Given the description of an element on the screen output the (x, y) to click on. 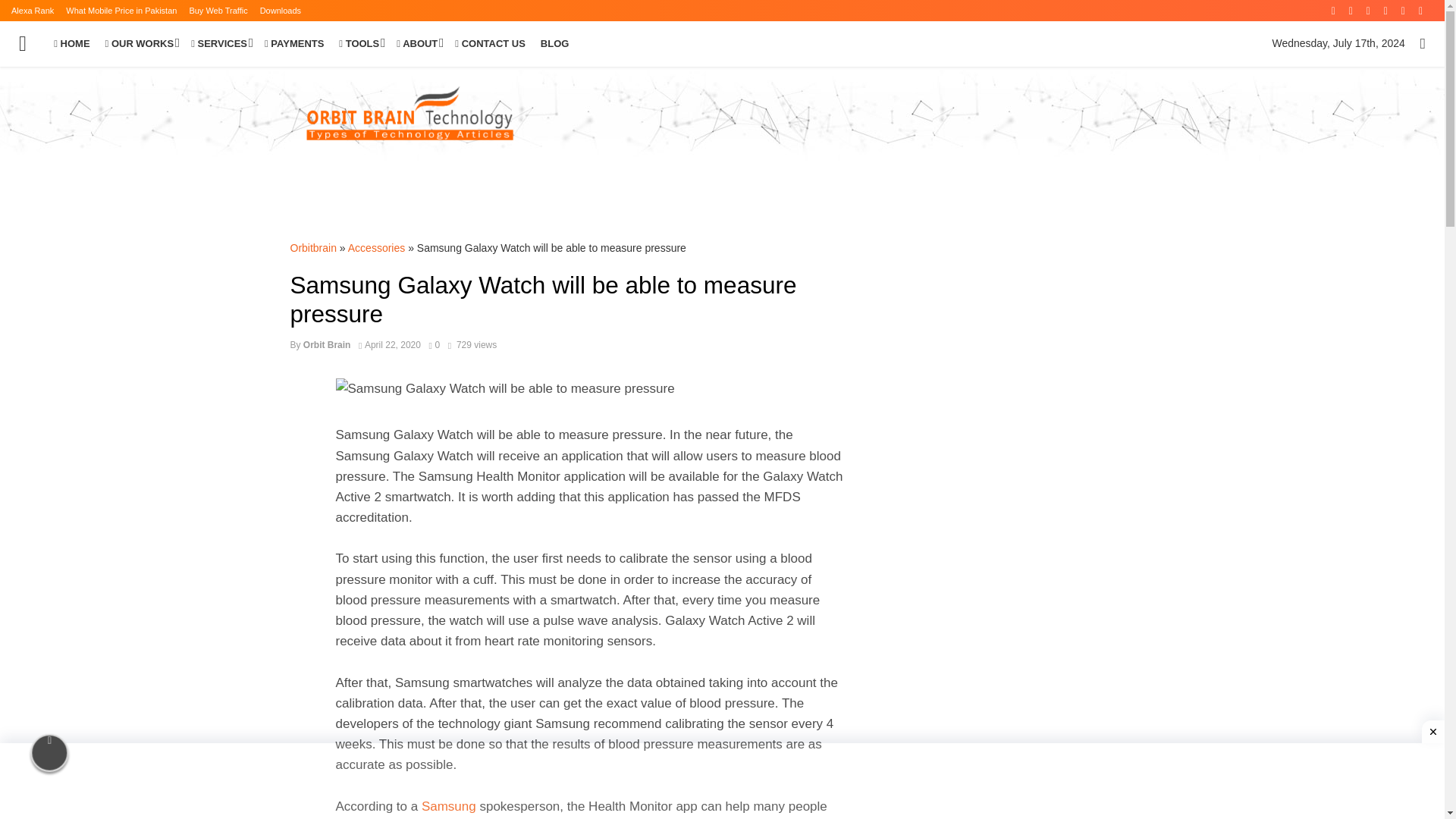
SERVICES (220, 43)
OUR WORKS (140, 43)
Buy Web Traffic (218, 10)
TOOLS (359, 43)
PAYMENTS (294, 43)
Wednesday, July 17th, 2024 (1337, 43)
BLOG (554, 43)
HOME (71, 43)
What Mobile Price in Pakistan (120, 10)
ABOUT (417, 43)
Alexa Rank (32, 10)
CONTACT US (489, 43)
Downloads (280, 10)
